Given the description of an element on the screen output the (x, y) to click on. 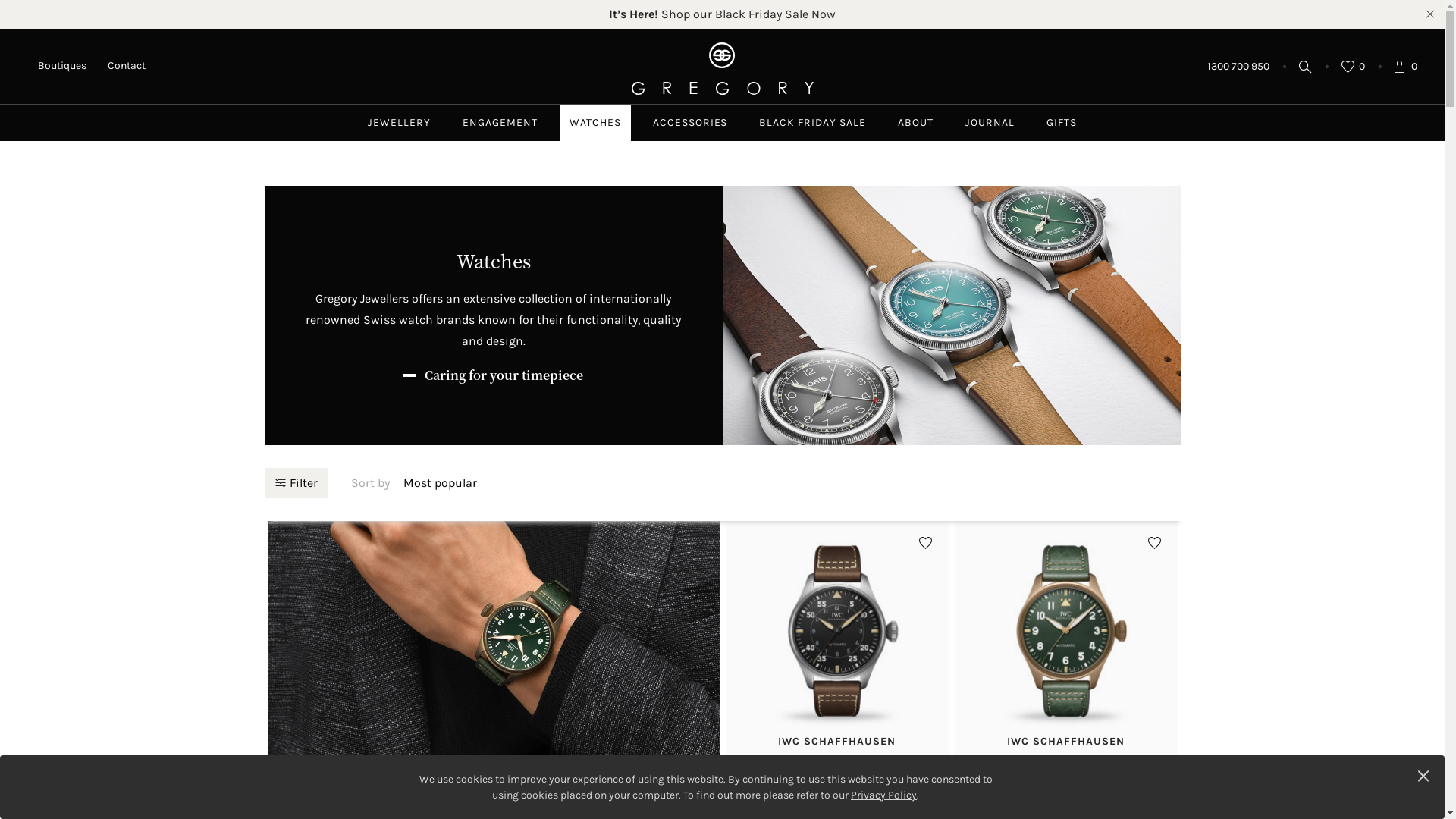
ENGAGEMENT Element type: text (499, 122)
Discover Element type: hover (492, 530)
Privacy Policy Element type: text (883, 794)
0 Element type: text (1405, 65)
ACCESSORIES Element type: text (690, 122)
IWC Big Pilot's Watch 43 Element type: text (492, 782)
0 Element type: text (1353, 66)
JOURNAL Element type: text (989, 122)
Boutiques Element type: text (62, 65)
Caring for your timepiece Element type: text (492, 375)
JEWELLERY Element type: text (398, 122)
WATCHES Element type: text (594, 122)
GIFTS Element type: text (1061, 122)
BLACK FRIDAY SALE Element type: text (812, 122)
1300 700 950 Element type: text (1238, 65)
ABOUT Element type: text (915, 122)
Contact Element type: text (126, 65)
Filter Element type: text (295, 482)
